Given the description of an element on the screen output the (x, y) to click on. 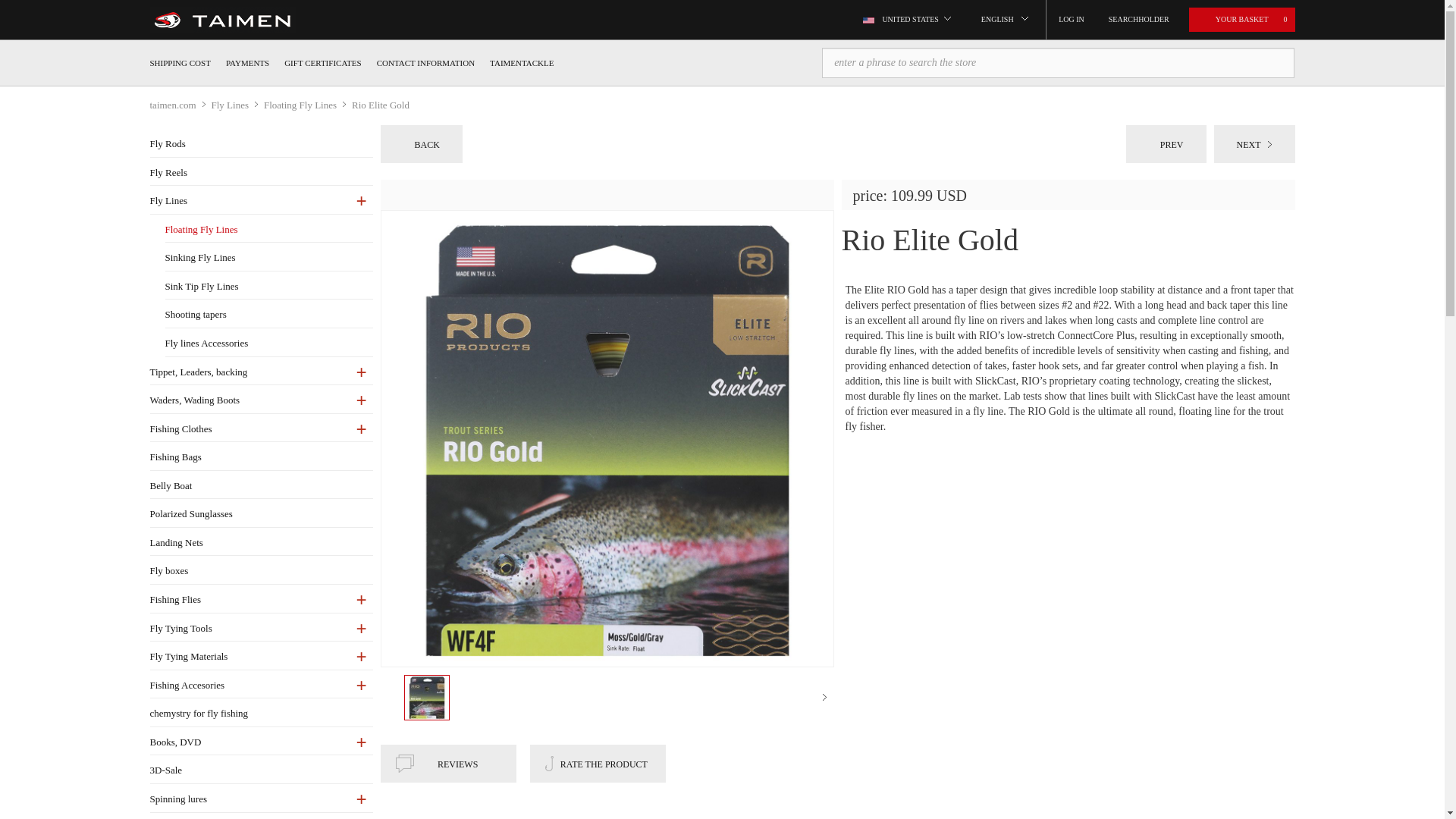
Fly Tying Tools (260, 628)
Books, DVD (260, 742)
taimen.com (180, 104)
Sinking Fly Lines (268, 257)
Fly Rods (260, 144)
SHIPPING COST (180, 62)
SEARCHHOLDER (1138, 19)
LOG IN (1071, 19)
Tippet, Leaders, backing (260, 372)
Fly boxes (260, 571)
Rate the product (597, 763)
Fly lines Accessories (268, 343)
Fly Lines (260, 201)
Fishing Flies (260, 599)
Floating Fly Lines (268, 229)
